Given the description of an element on the screen output the (x, y) to click on. 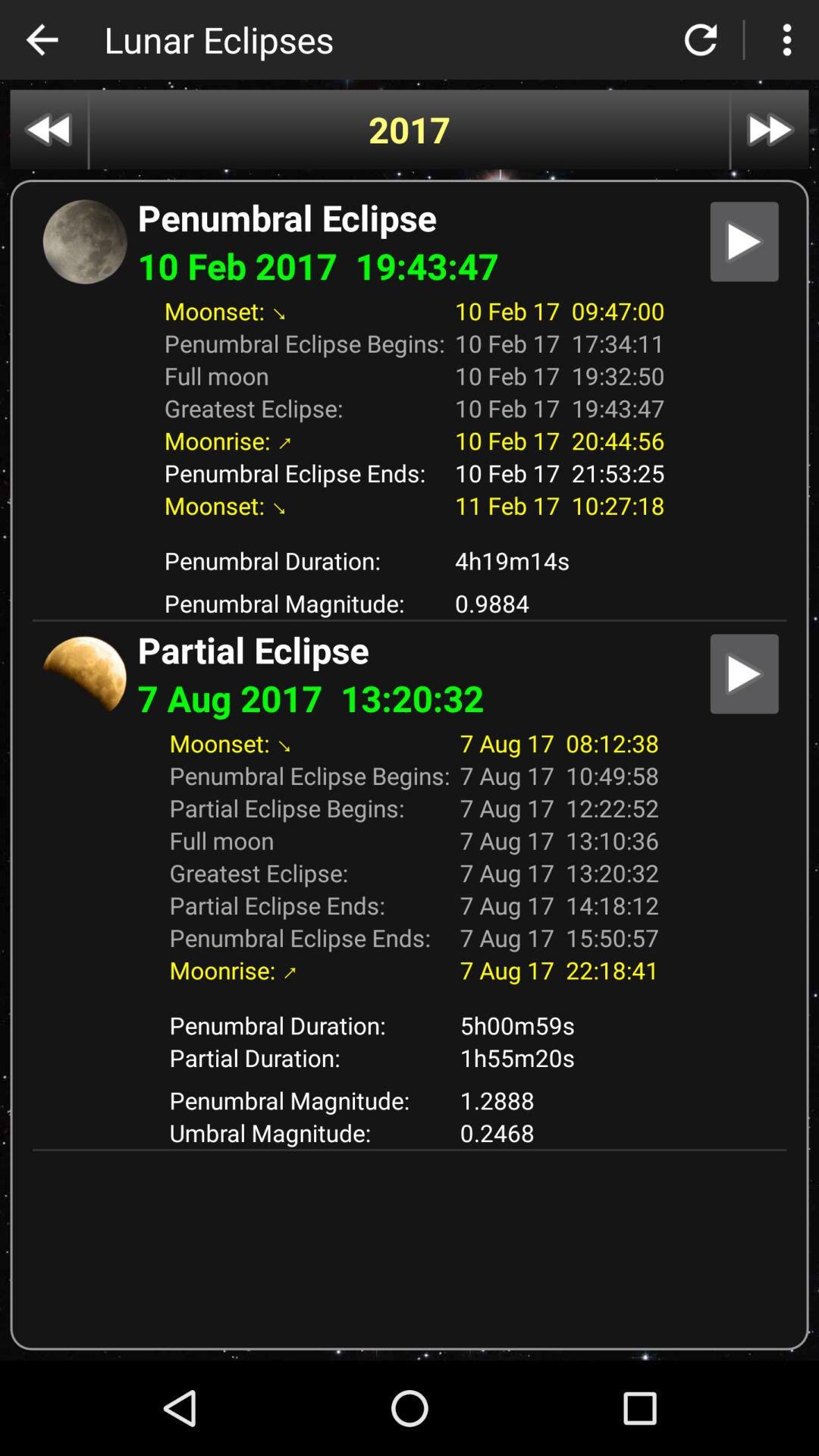
go back a page (48, 129)
